Given the description of an element on the screen output the (x, y) to click on. 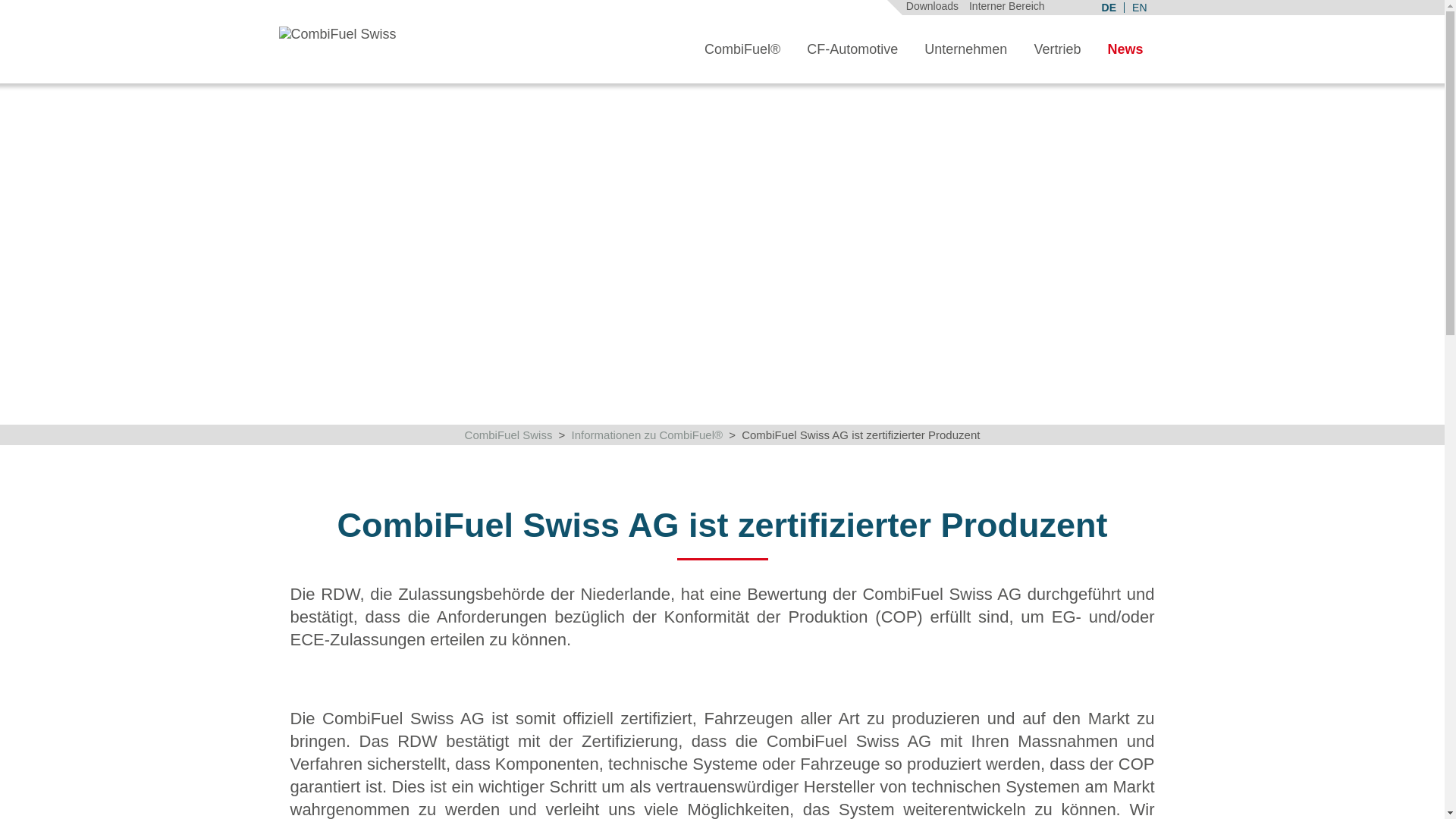
News Element type: text (1124, 49)
Vertrieb Element type: text (1057, 49)
DE Element type: text (1109, 7)
Unternehmen Element type: text (965, 49)
Interner Bereich Element type: text (1006, 6)
CombiFuel Swiss Element type: text (508, 434)
EN Element type: text (1139, 7)
Downloads Element type: text (932, 6)
CF-Automotive Element type: text (852, 49)
